Given the description of an element on the screen output the (x, y) to click on. 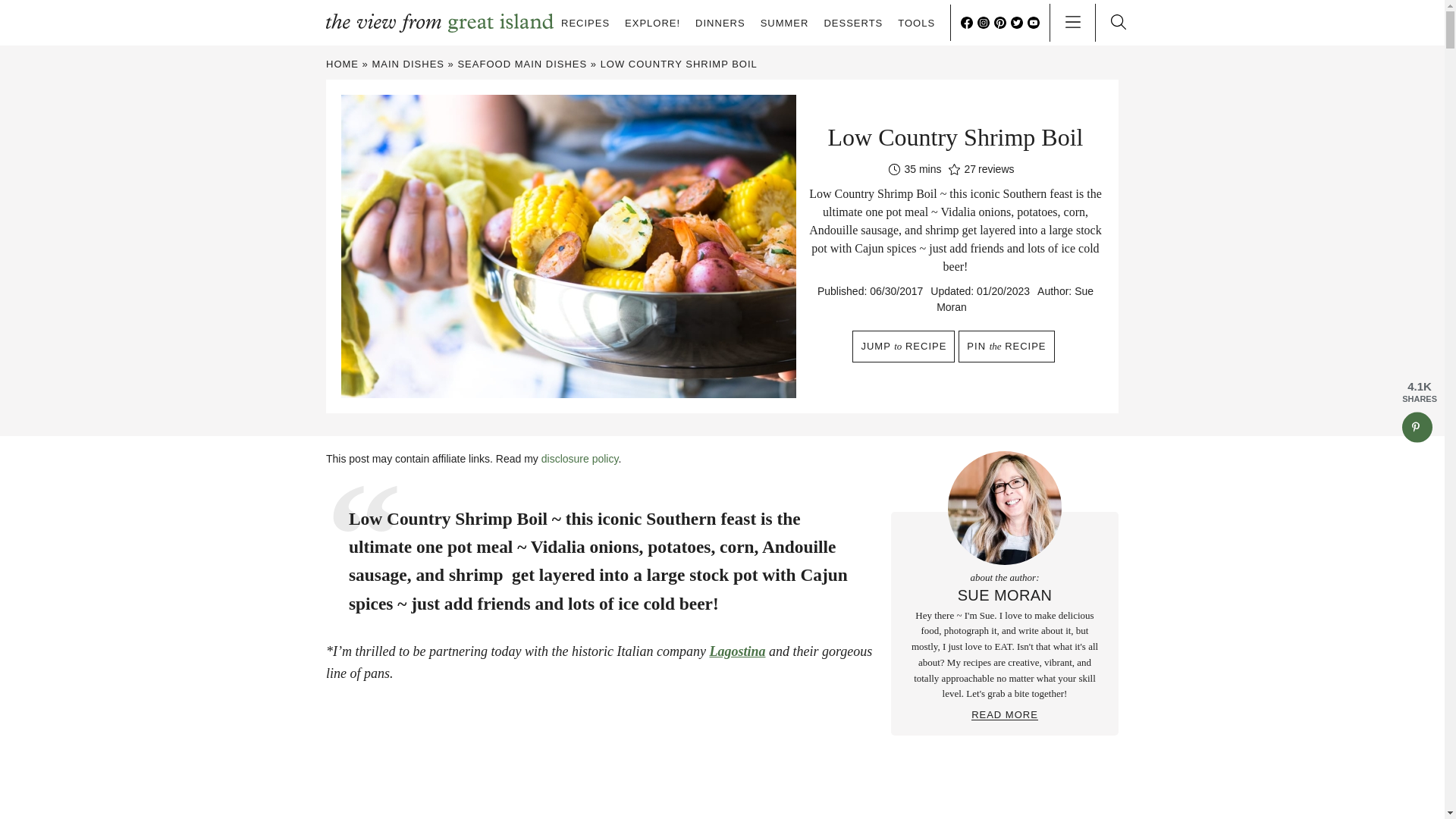
EXPLORE! (651, 22)
DINNERS (720, 22)
TOOLS (916, 22)
SUMMER (784, 22)
DESSERTS (853, 22)
RECIPES (585, 22)
